Given the description of an element on the screen output the (x, y) to click on. 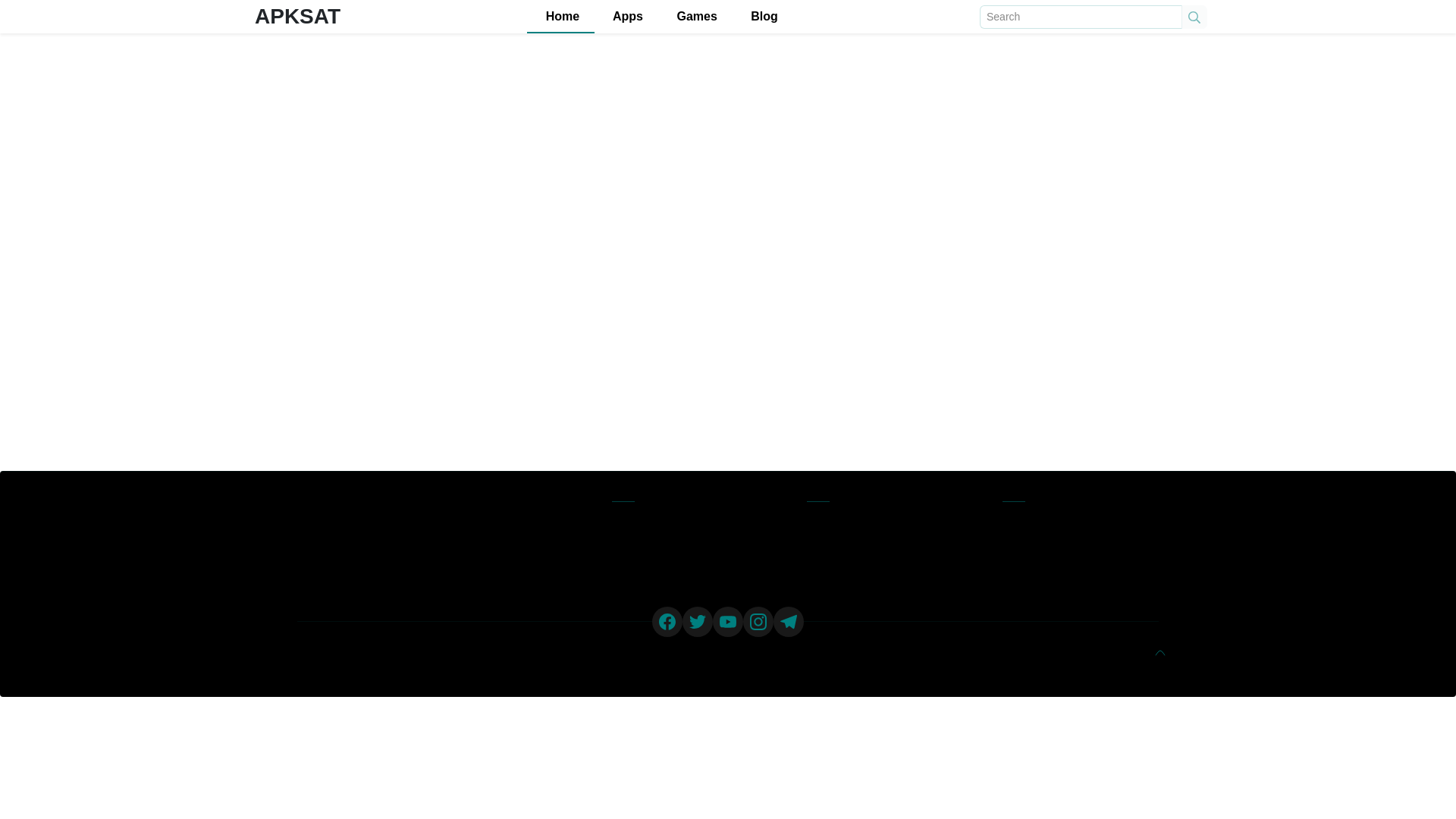
apksat (435, 652)
Advertisement (1051, 154)
 Blog (762, 16)
 Home (560, 16)
 Games (695, 16)
 Apps (626, 16)
APKSAT (297, 15)
